Given the description of an element on the screen output the (x, y) to click on. 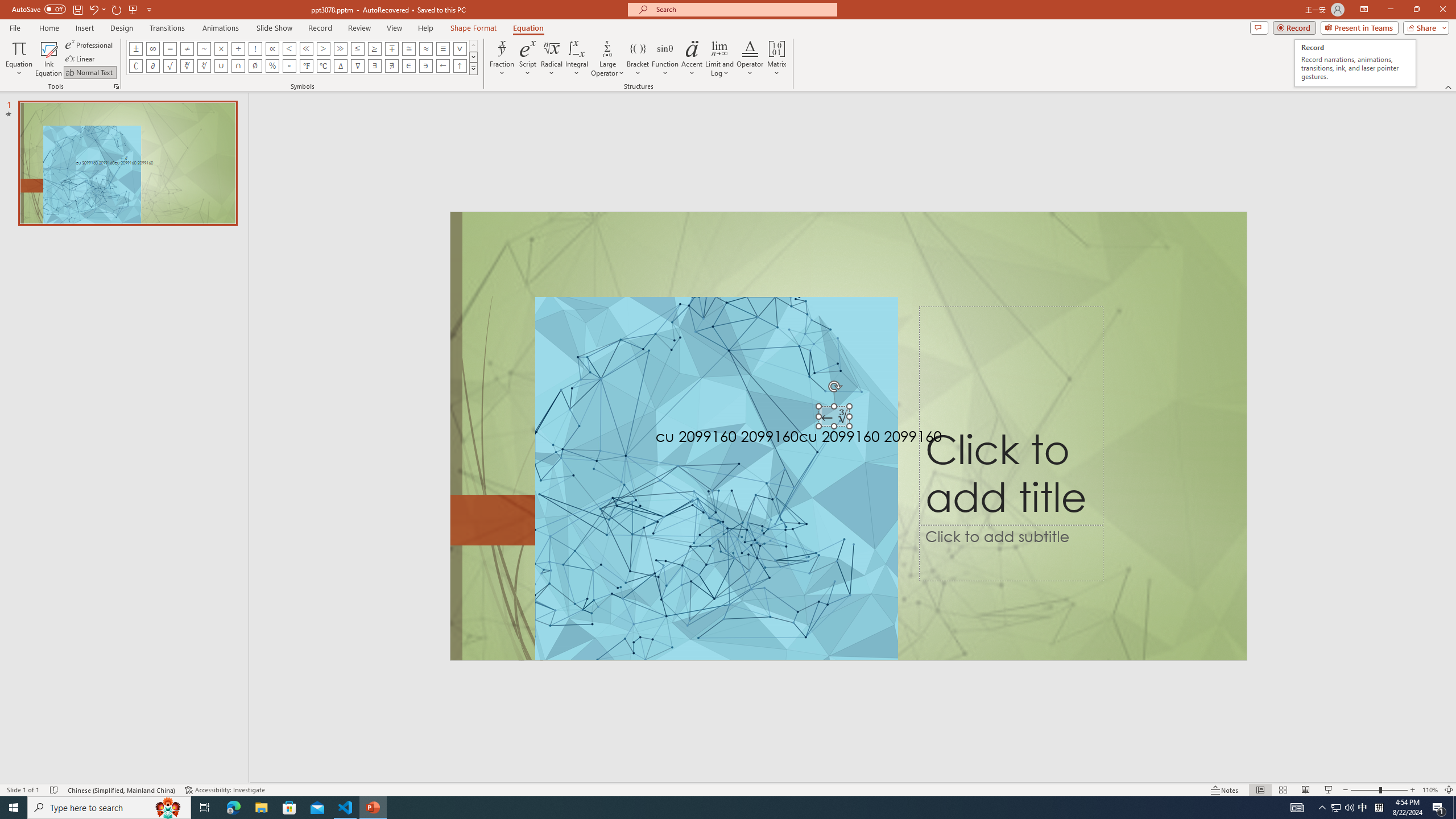
Equation Symbol Factorial (255, 48)
Equation Symbol Element Of (408, 65)
AutomationID: EquationSymbolsInsertGallery (302, 57)
Equation Symbol Complement (136, 65)
Equation Options... (116, 85)
Professional (90, 44)
